Given the description of an element on the screen output the (x, y) to click on. 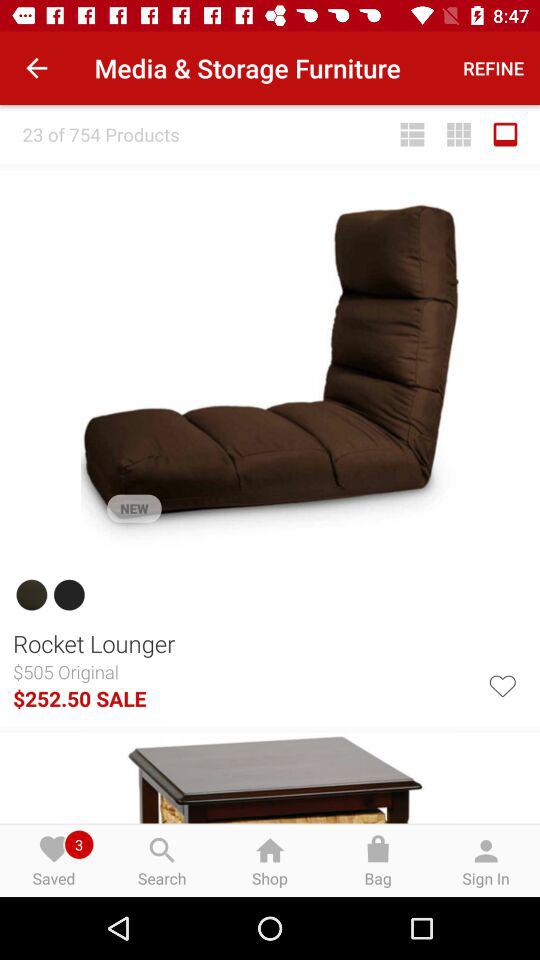
add to favorite option (501, 683)
